Given the description of an element on the screen output the (x, y) to click on. 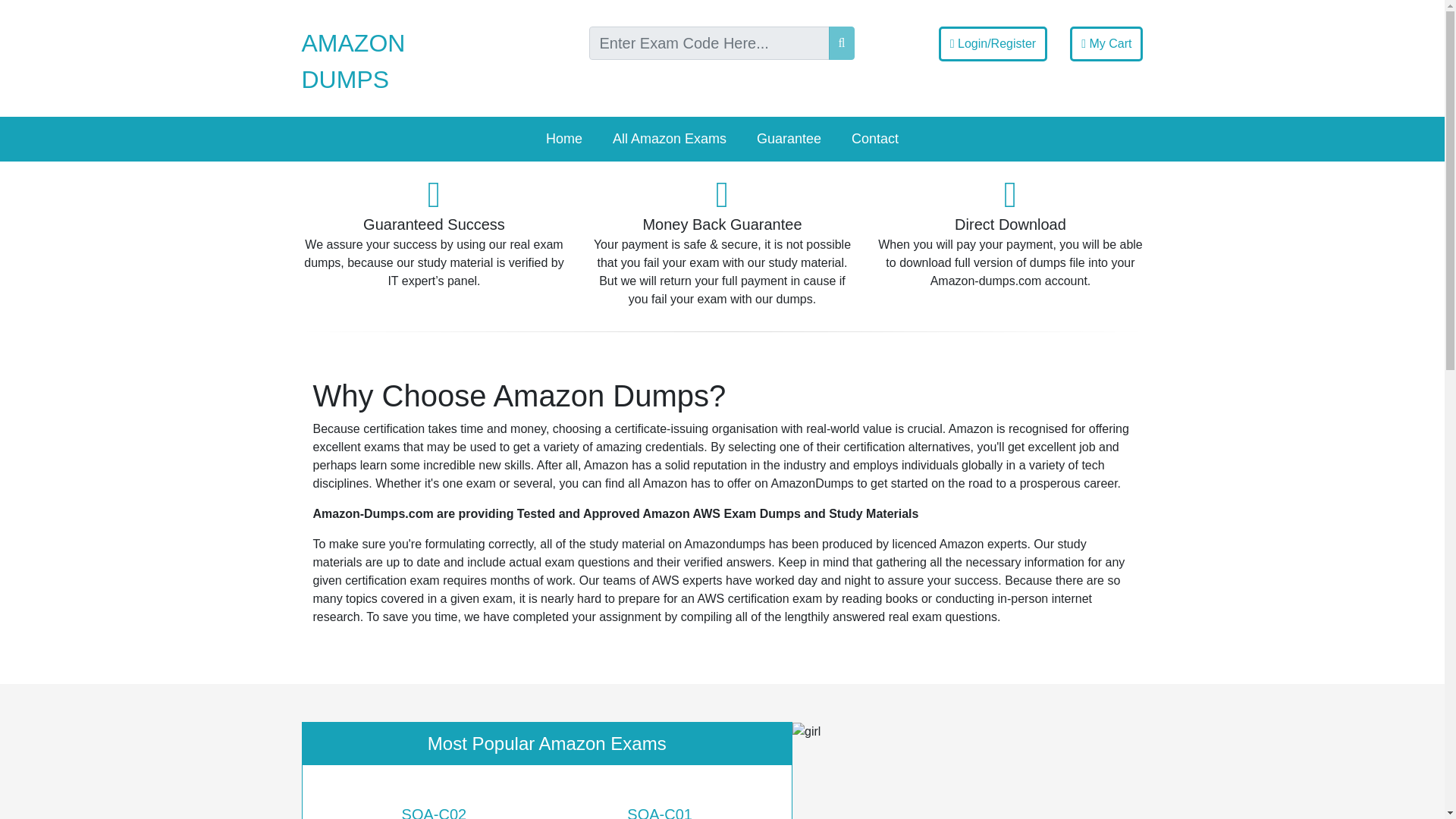
SOA-C02 (433, 807)
Home (563, 138)
All Amazon Exams (668, 138)
AMAZON DUMPS (353, 61)
Guarantee (788, 138)
My Cart (1106, 43)
SOA-C01 (659, 807)
Contact (874, 138)
